Given the description of an element on the screen output the (x, y) to click on. 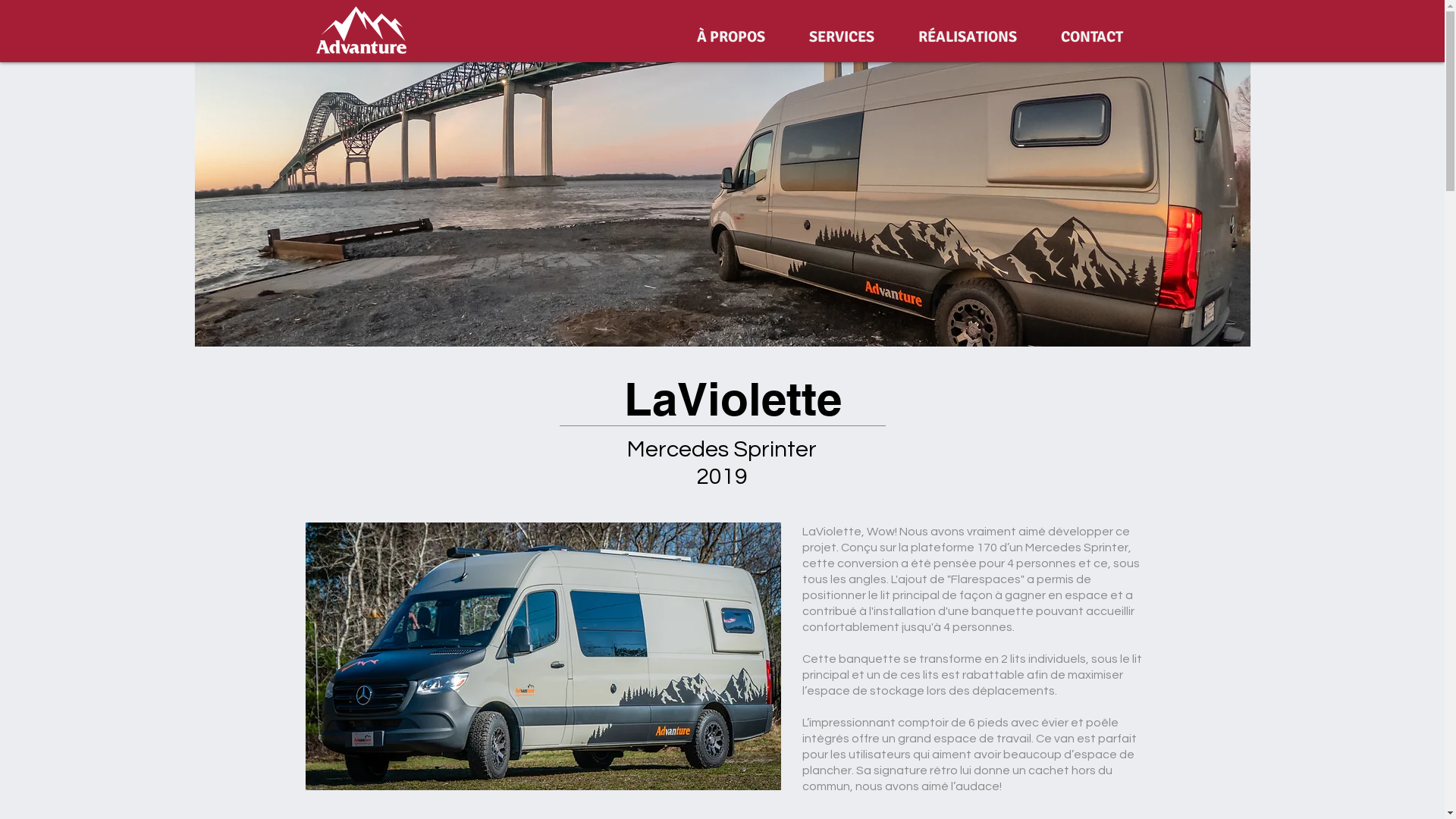
SERVICES Element type: text (851, 36)
CONTACT Element type: text (1102, 36)
